Given the description of an element on the screen output the (x, y) to click on. 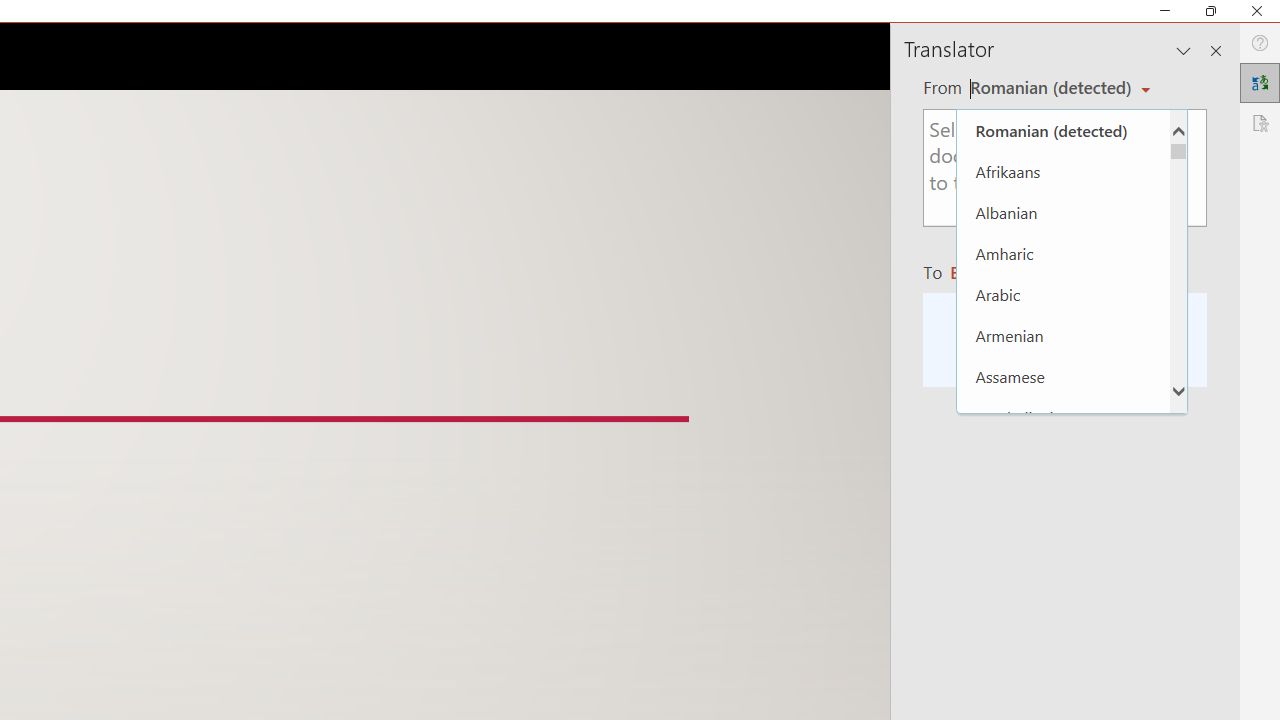
Albanian (1063, 212)
Azerbaijani (1063, 416)
Arabic (1063, 294)
Amharic (1063, 253)
Bodo (1063, 621)
